Given the description of an element on the screen output the (x, y) to click on. 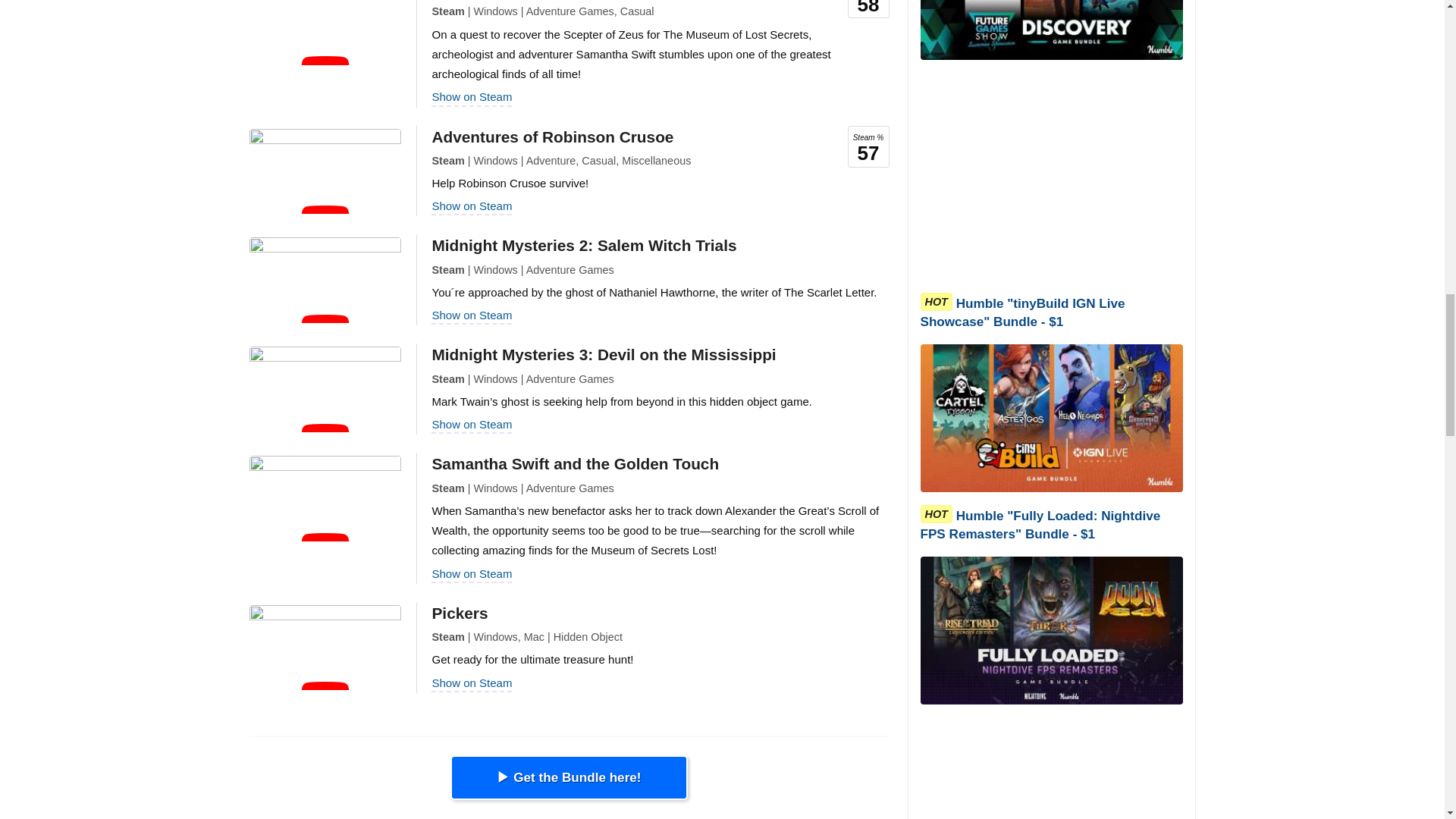
Buy Cursed Bundle from Fanatical here. (568, 777)
